Given the description of an element on the screen output the (x, y) to click on. 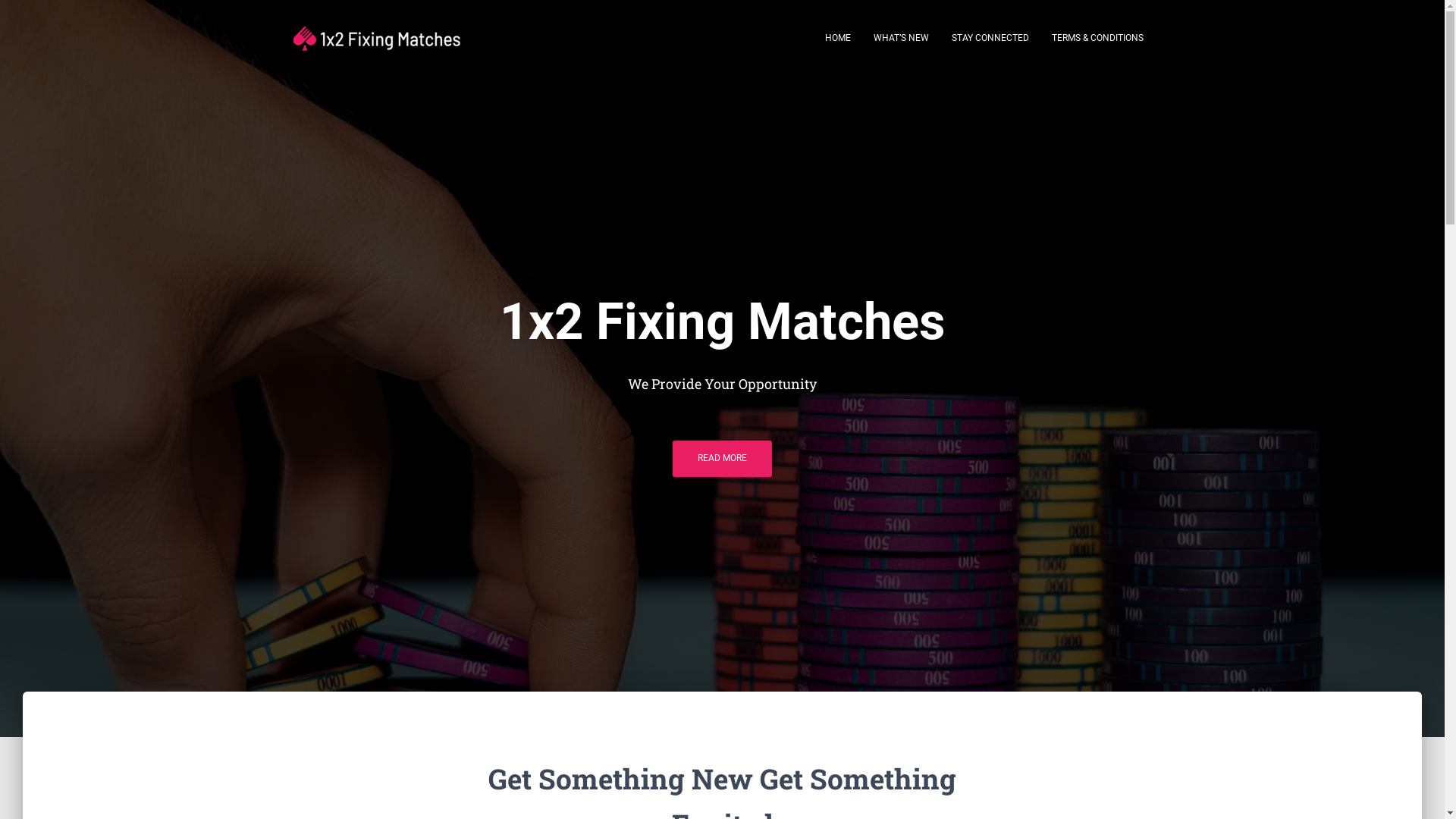
READ MORE Element type: text (721, 458)
HOME Element type: text (836, 37)
STAY CONNECTED Element type: text (990, 37)
TERMS & CONDITIONS Element type: text (1097, 37)
